Given the description of an element on the screen output the (x, y) to click on. 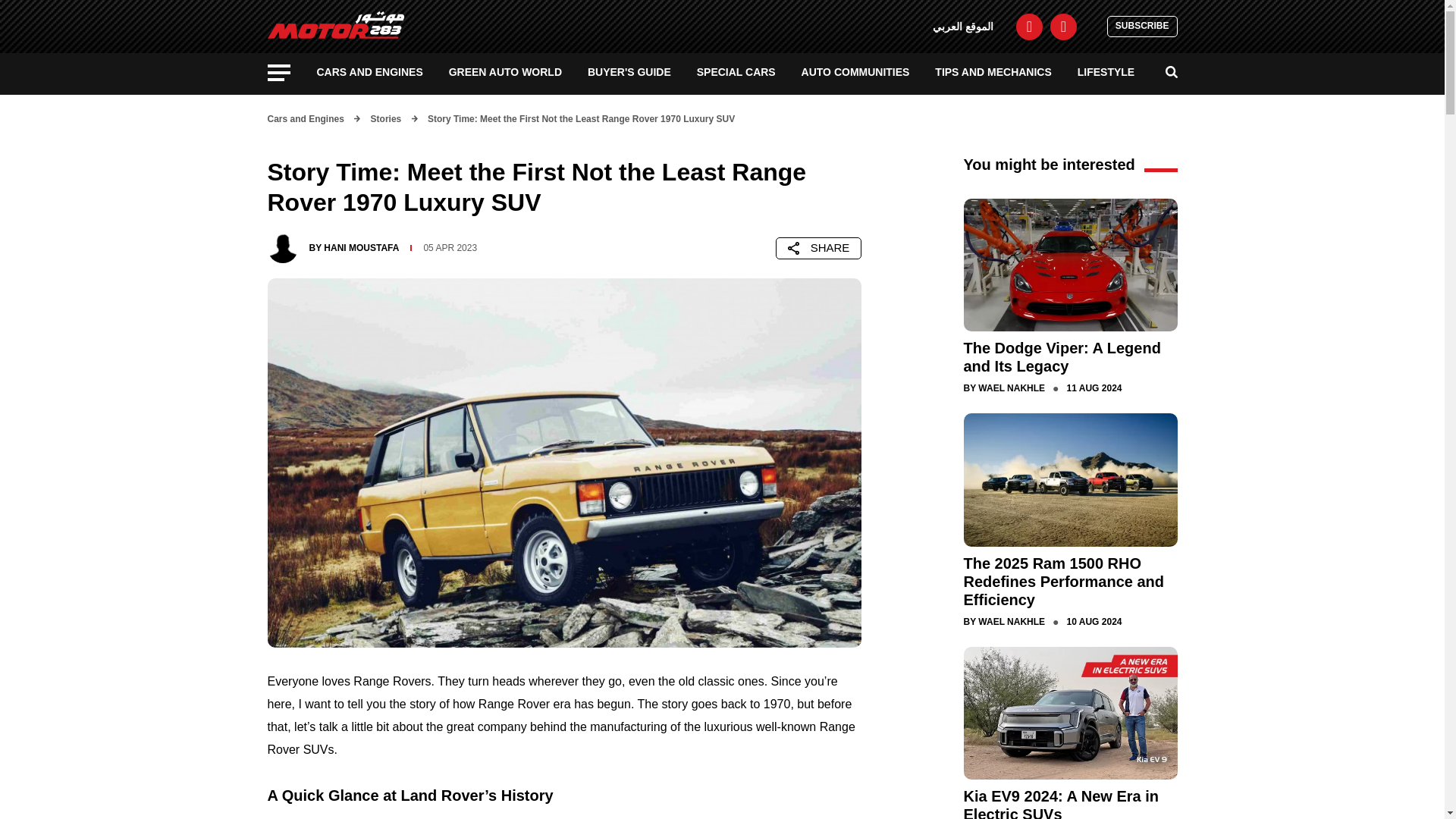
AUTO COMMUNITIES (856, 71)
CARS AND ENGINES (370, 71)
LIFESTYLE (1105, 71)
Motor 283 (335, 24)
SUBSCRIBE (1141, 25)
SPECIAL CARS (736, 71)
TIPS AND MECHANICS (992, 71)
GREEN AUTO WORLD (505, 71)
BUYER'S GUIDE (629, 71)
